Given the description of an element on the screen output the (x, y) to click on. 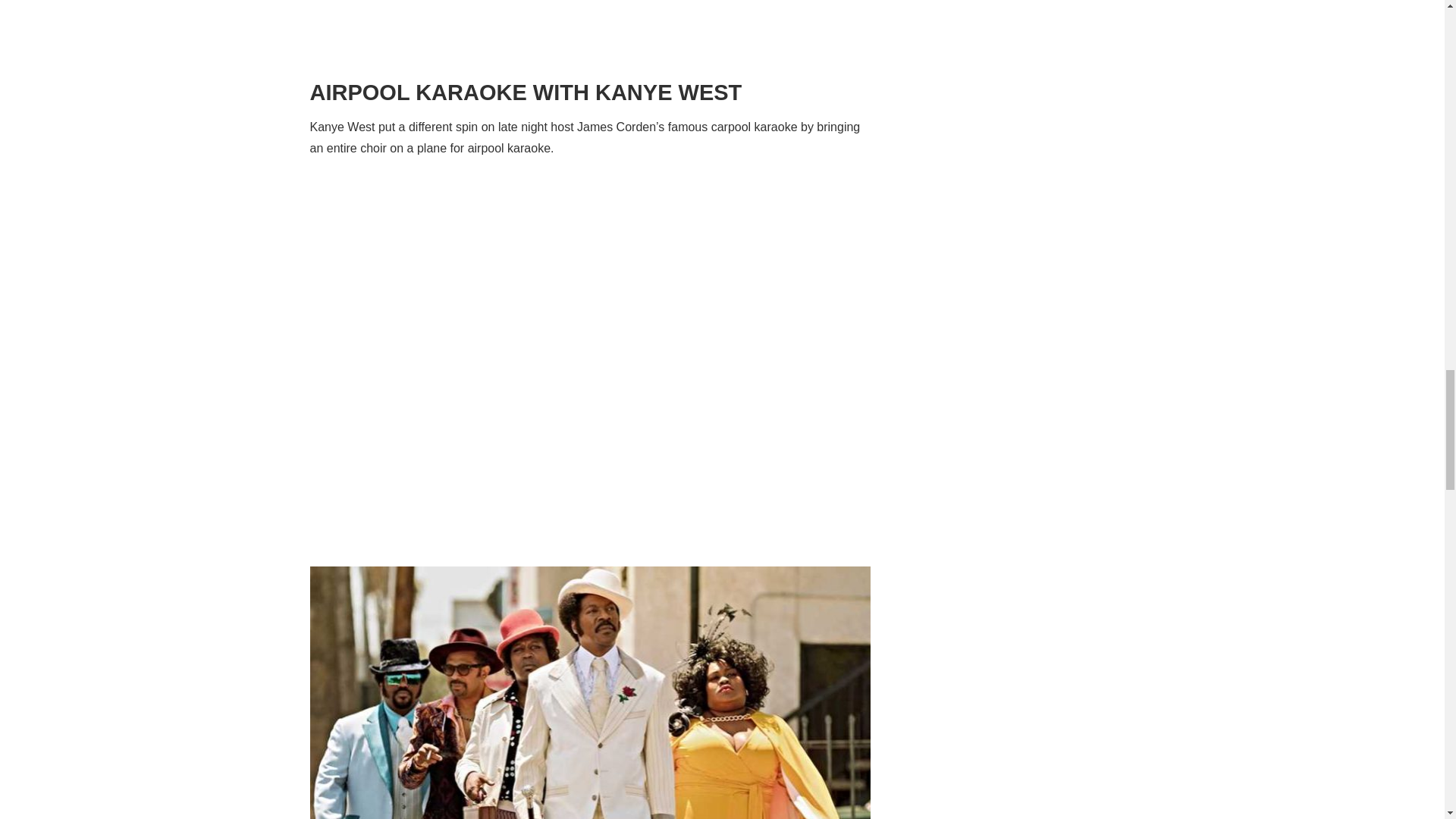
Raphael Saadiq: NPR Music Tiny Desk Concert (589, 4)
AIRPOOL KARAOKE WITH KANYE WEST (524, 92)
